Given the description of an element on the screen output the (x, y) to click on. 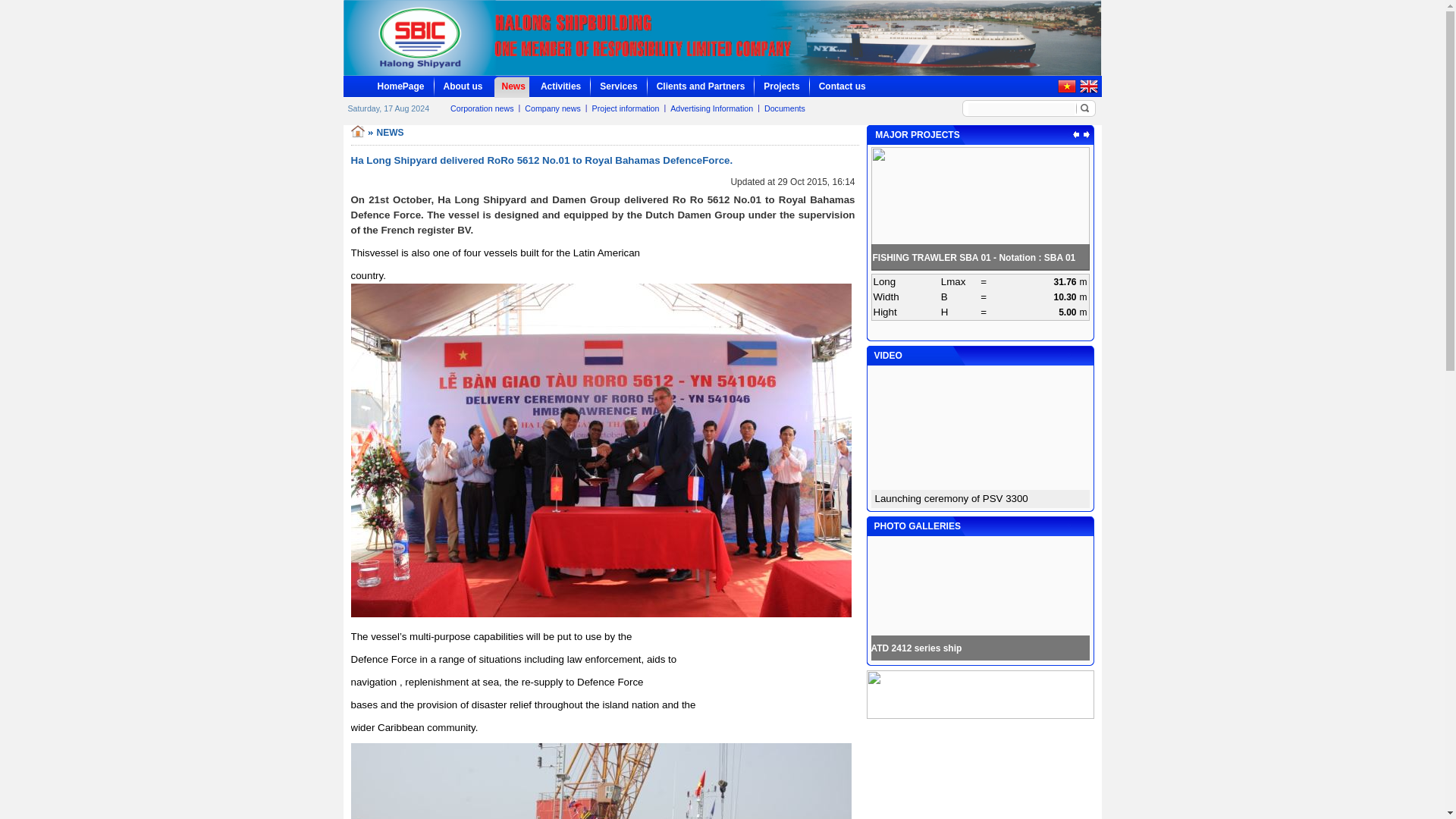
Company news (551, 108)
Advertising Information (710, 108)
Projects (780, 86)
News (513, 86)
Activities (560, 86)
Clients and Partners (700, 86)
Services (618, 86)
About us (463, 86)
Contact us (842, 86)
Corporation news (481, 108)
